Given the description of an element on the screen output the (x, y) to click on. 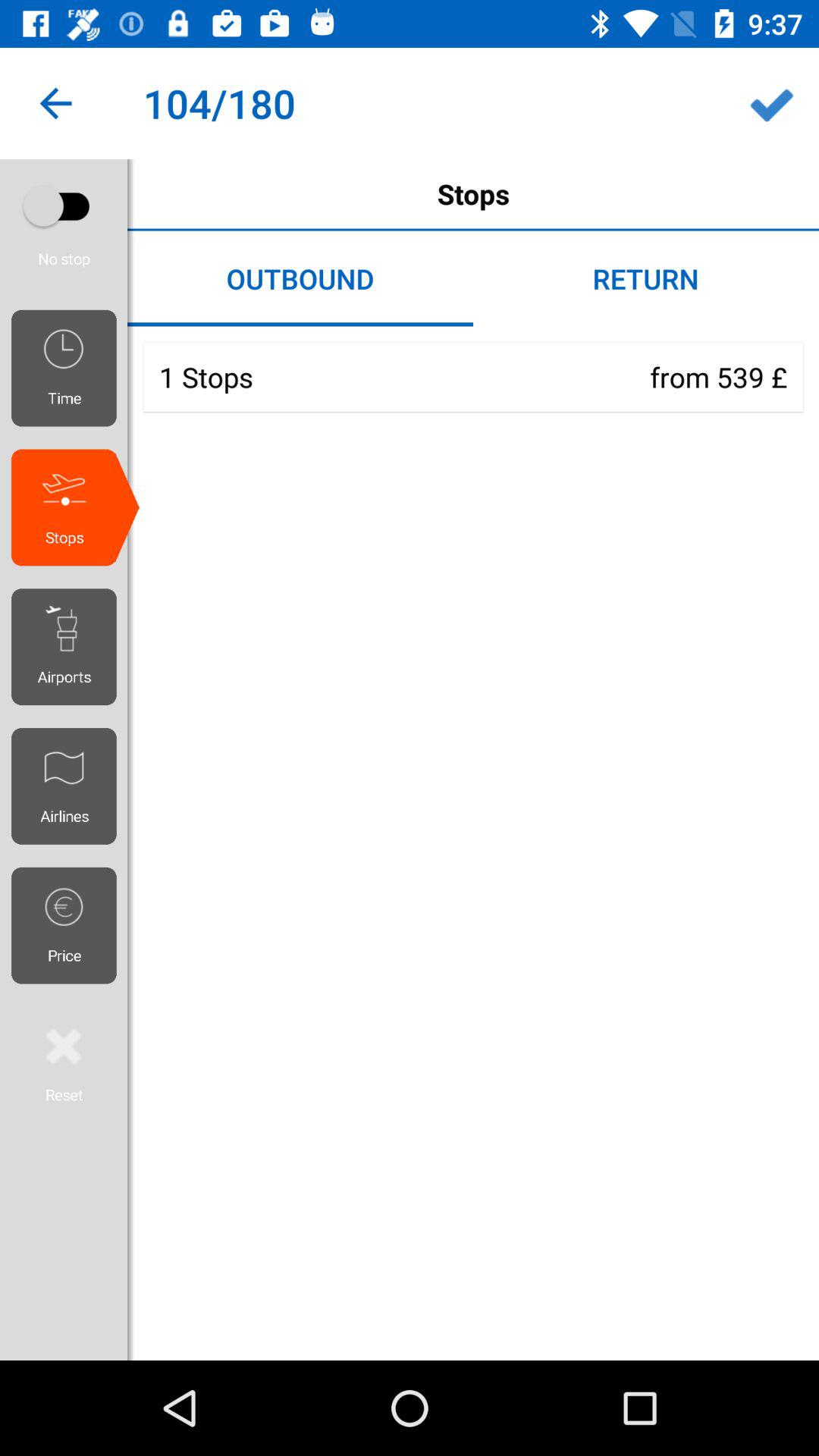
close page (63, 1062)
